Given the description of an element on the screen output the (x, y) to click on. 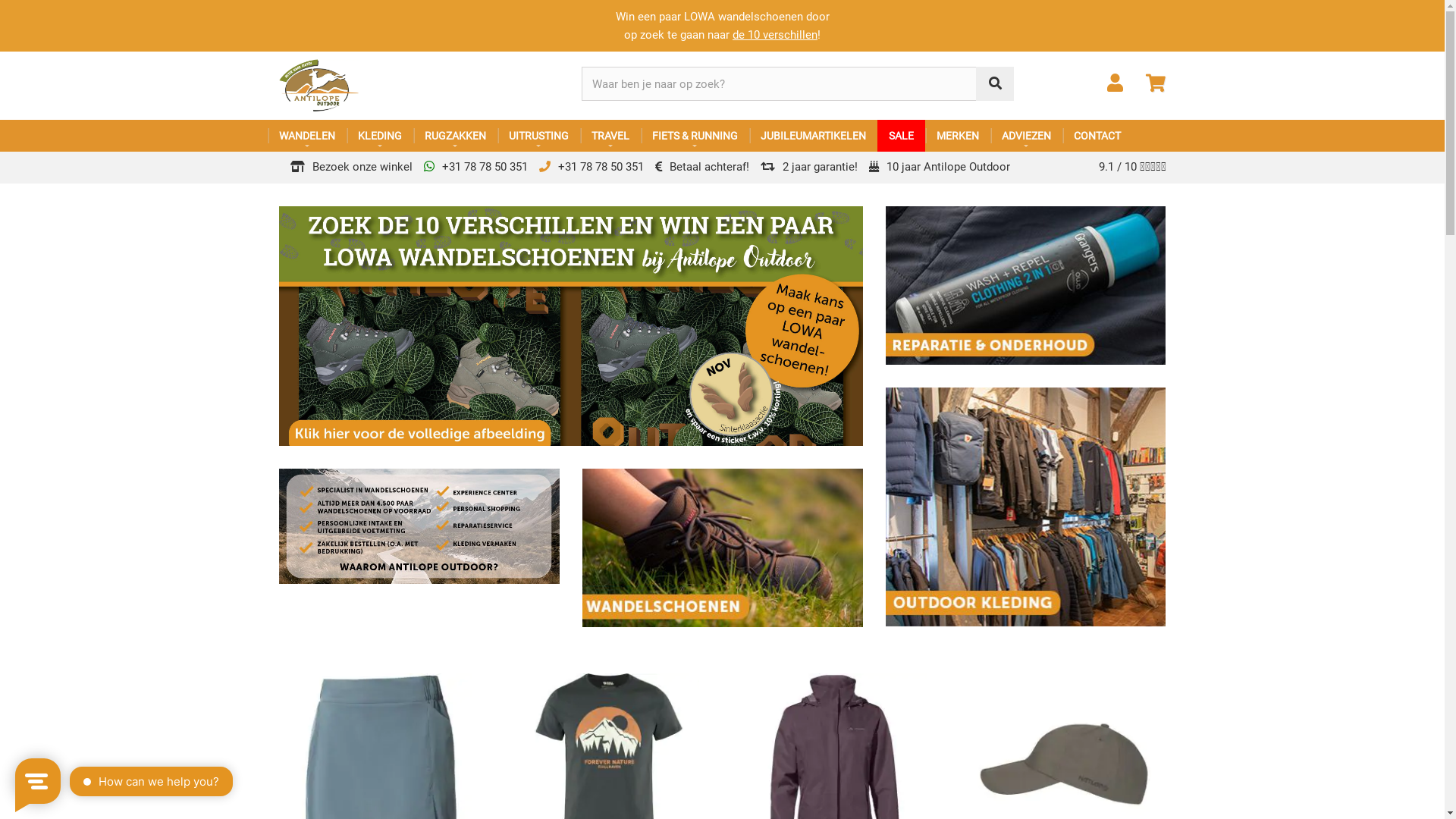
TRAVEL Element type: text (609, 135)
MERKEN Element type: text (957, 135)
trengo-widget-launcher Element type: hover (37, 780)
UITRUSTING Element type: text (538, 135)
Inloggen op uw account Element type: hover (1115, 85)
JUBILEUMARTIKELEN Element type: text (813, 135)
KLEDING Element type: text (378, 135)
trengo-widget-status Element type: hover (171, 782)
Bezoek onze winkel Element type: text (350, 166)
Betaal achteraf! Element type: text (702, 166)
RUGZAKKEN Element type: text (454, 135)
ADVIEZEN Element type: text (1026, 135)
WANDELEN Element type: text (305, 135)
+31 78 78 50 351 Element type: text (590, 166)
de 10 verschillen Element type: text (774, 34)
10 jaar Antilope Outdoor Element type: text (939, 166)
+31 78 78 50 351 Element type: text (475, 166)
SALE Element type: text (900, 135)
2 jaar garantie! Element type: text (807, 166)
CONTACT Element type: text (1096, 135)
Bekijk mijn winkelwagen Element type: hover (1155, 85)
Antilopeoutdoor.be Element type: hover (381, 85)
FIETS & RUNNING Element type: text (694, 135)
